Given the description of an element on the screen output the (x, y) to click on. 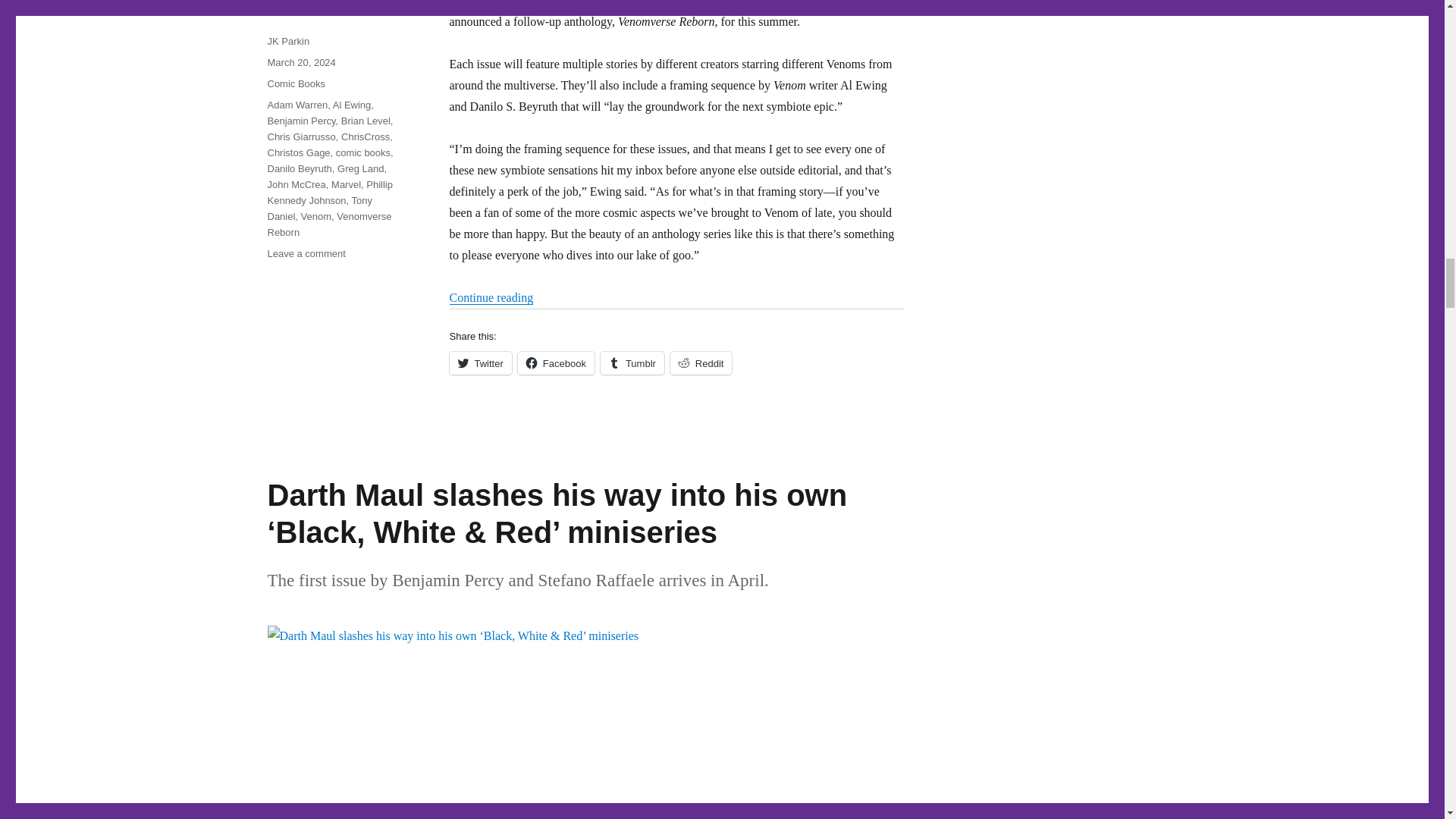
Click to share on Facebook (556, 363)
Click to share on Twitter (479, 363)
Click to share on Tumblr (631, 363)
